Given the description of an element on the screen output the (x, y) to click on. 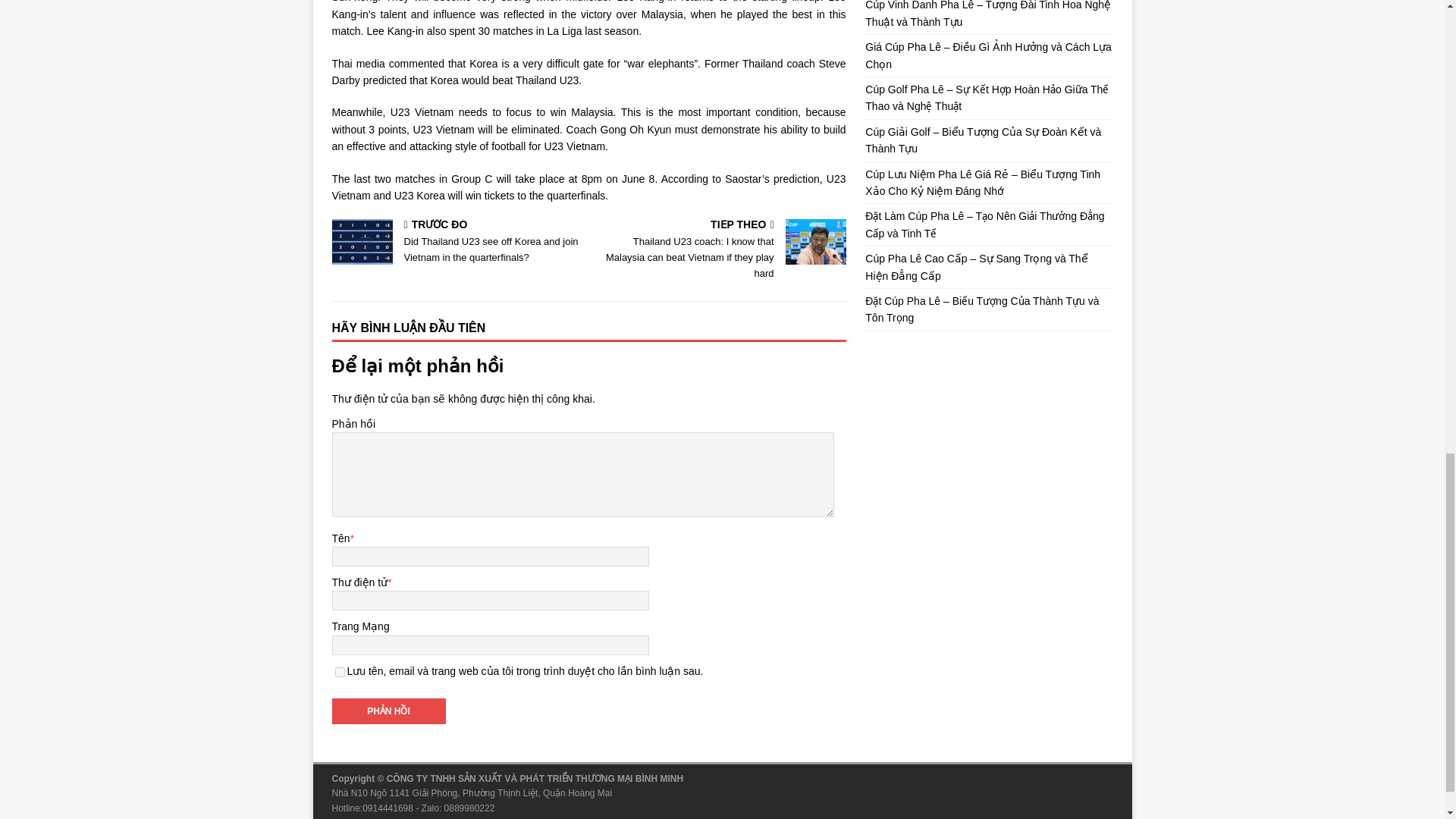
yes (339, 672)
